Given the description of an element on the screen output the (x, y) to click on. 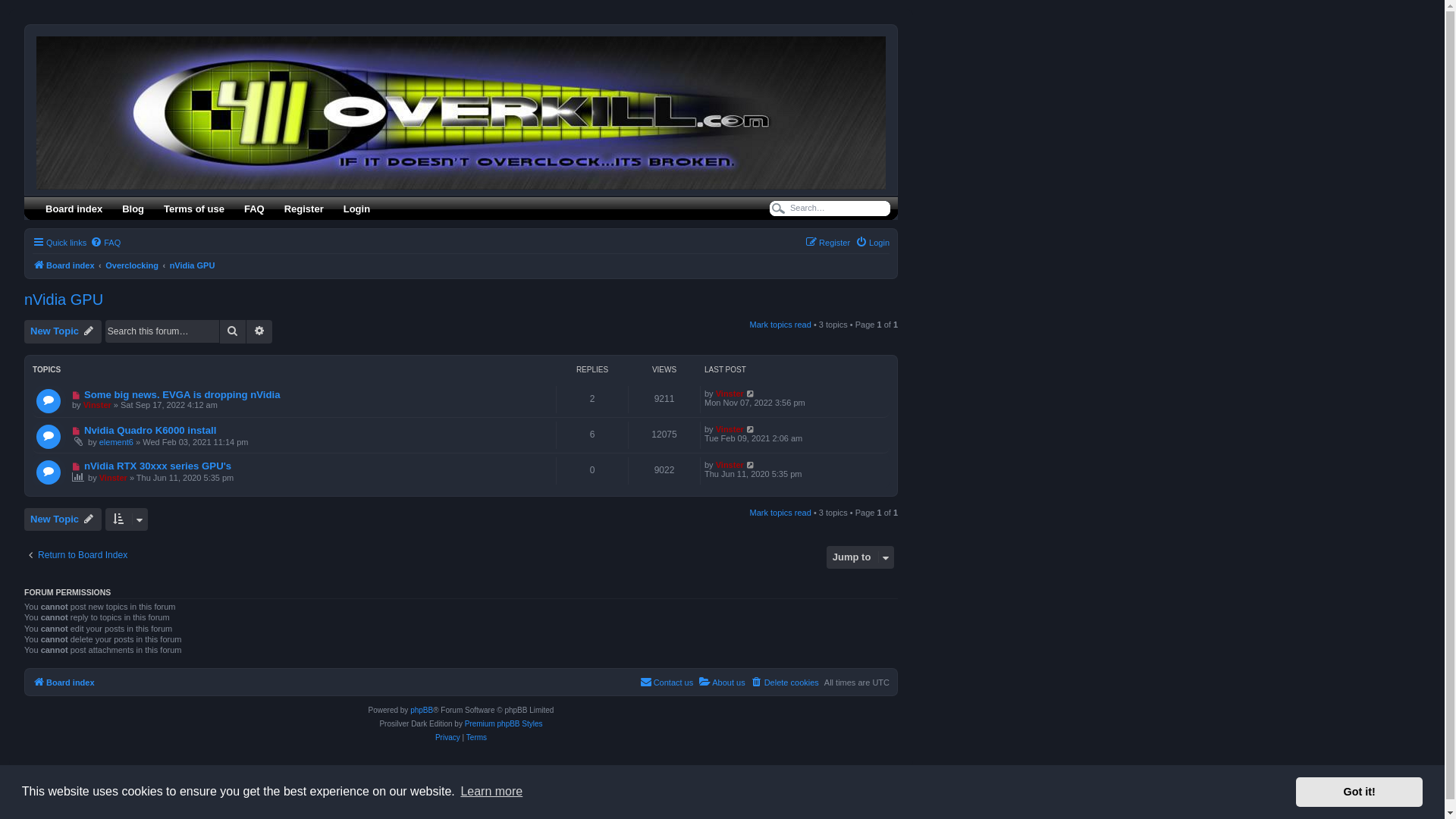
Quick links Element type: text (59, 242)
Got it! Element type: text (1358, 791)
Terms of use Element type: text (193, 208)
Terms Element type: text (476, 737)
Search for keywords Element type: hover (833, 207)
Some big news. EVGA is dropping nVidia Element type: text (182, 394)
Login Element type: text (872, 242)
FAQ Element type: text (254, 208)
Register Element type: text (303, 208)
Vinster Element type: text (729, 428)
Privacy Element type: text (447, 737)
Advanced search Element type: text (259, 331)
About us Element type: text (721, 682)
Display and sorting options Element type: hover (126, 519)
Mark topics read Element type: text (780, 512)
nVidia GPU Element type: text (63, 299)
New Topic Element type: text (62, 519)
Go to last post Element type: hover (751, 393)
Delete cookies Element type: text (784, 682)
Return to Board Index Element type: text (75, 555)
Vinster Element type: text (97, 404)
Login Element type: text (356, 208)
Contact us Element type: text (666, 682)
Board index Element type: hover (461, 109)
Board index Element type: text (73, 208)
Search Element type: text (232, 331)
Board index Element type: text (63, 265)
Vinster Element type: text (729, 393)
nVidia RTX 30xxx series GPU's Element type: text (157, 465)
nVidia GPU Element type: text (192, 265)
Board index Element type: text (63, 682)
Premium phpBB Styles Element type: text (503, 724)
Mark topics read Element type: text (780, 324)
Vinster Element type: text (729, 464)
New Topic Element type: text (62, 331)
element6 Element type: text (116, 441)
FAQ Element type: text (105, 242)
Register Element type: text (827, 242)
phpBB Element type: text (421, 710)
Go to last post Element type: hover (751, 464)
Blog Element type: text (132, 208)
Overclocking Element type: text (131, 265)
Learn more Element type: text (491, 791)
Vinster Element type: text (113, 477)
Nvidia Quadro K6000 install Element type: text (150, 430)
Go to last post Element type: hover (751, 428)
